Given the description of an element on the screen output the (x, y) to click on. 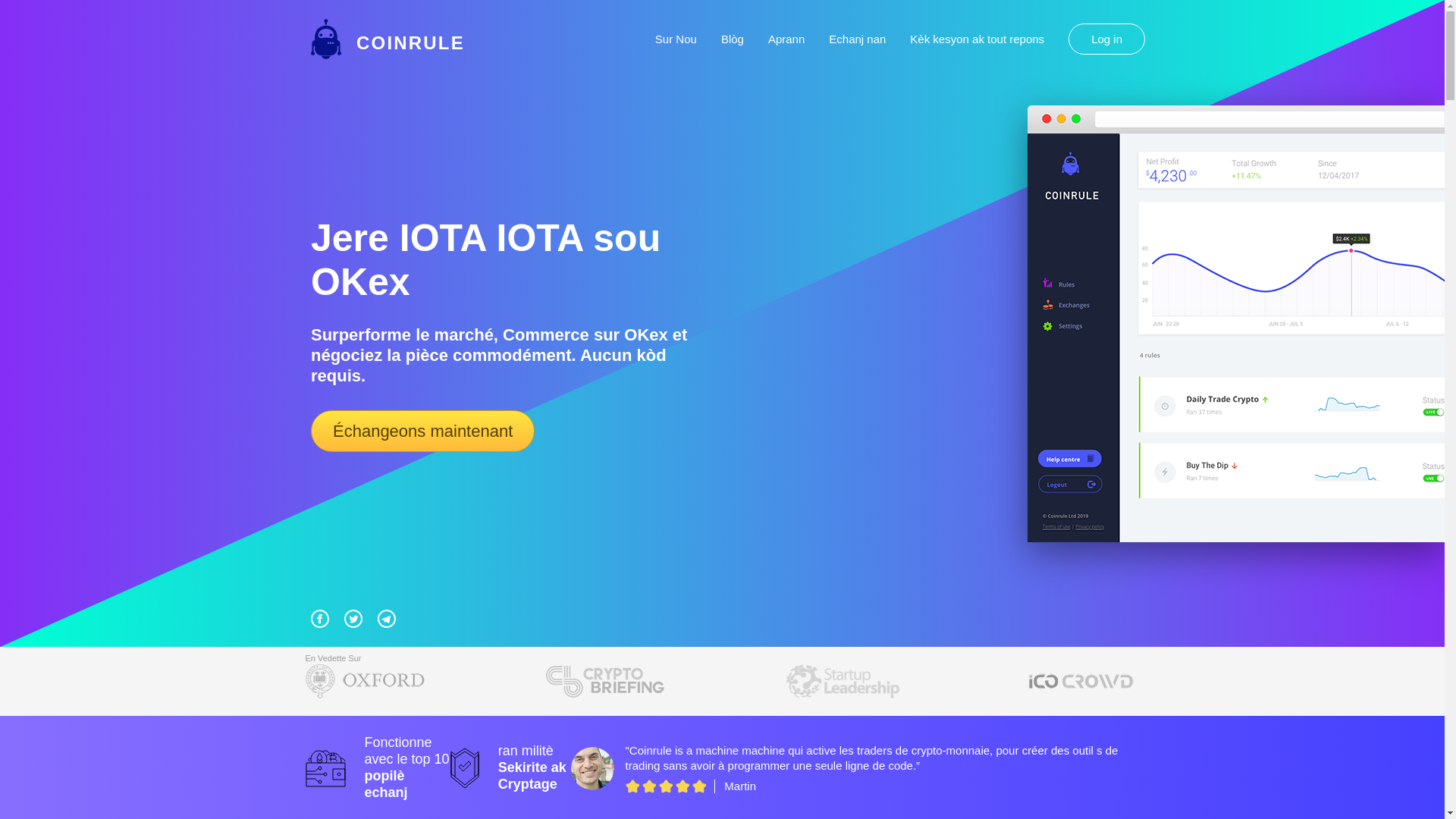
Log in Element type: text (1106, 38)
Aprann Element type: text (786, 38)
Sur Nou Element type: text (675, 38)
Echanj nan Element type: text (856, 38)
